Given the description of an element on the screen output the (x, y) to click on. 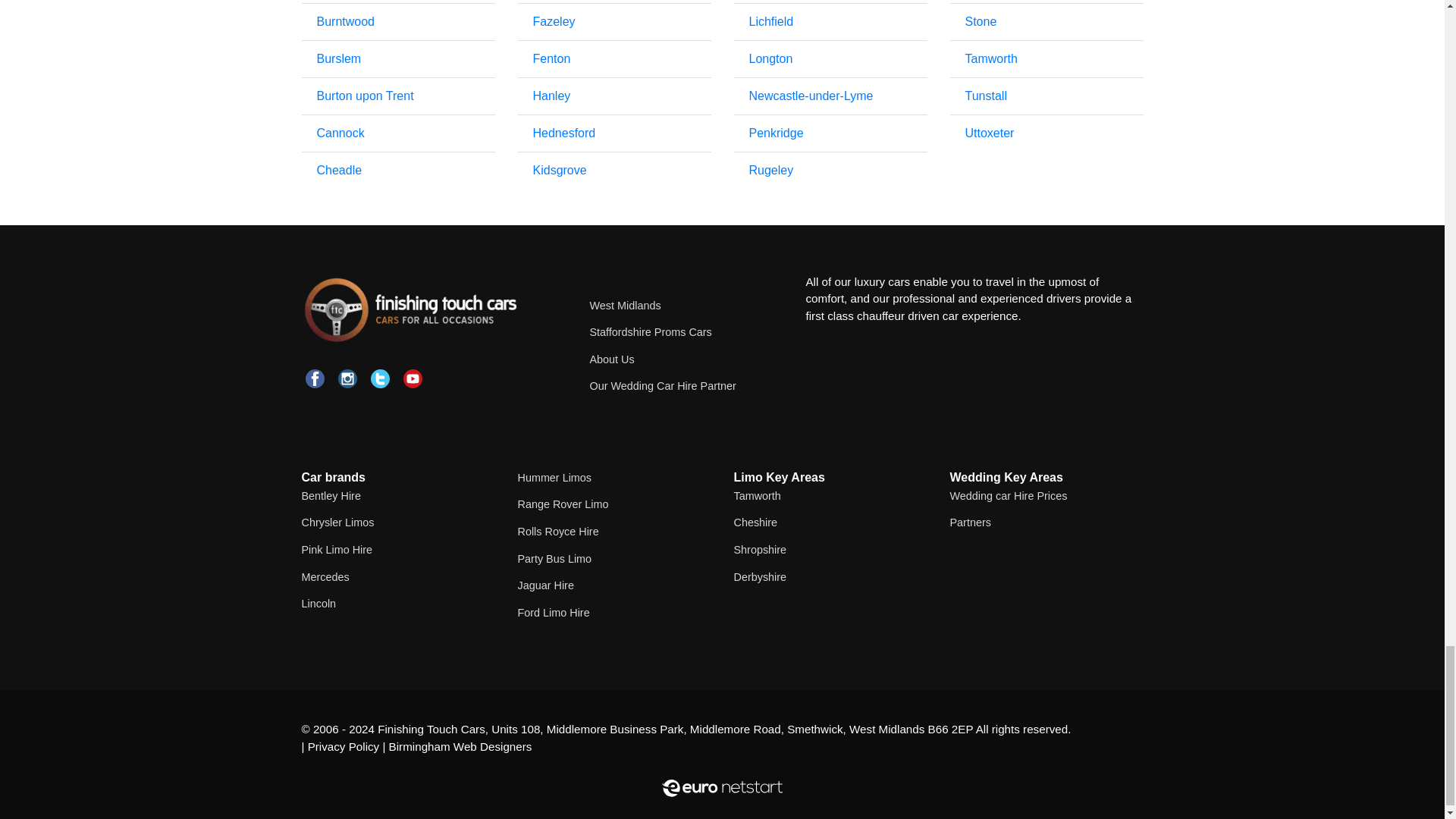
West Midlands Limo Hire (625, 306)
